Given the description of an element on the screen output the (x, y) to click on. 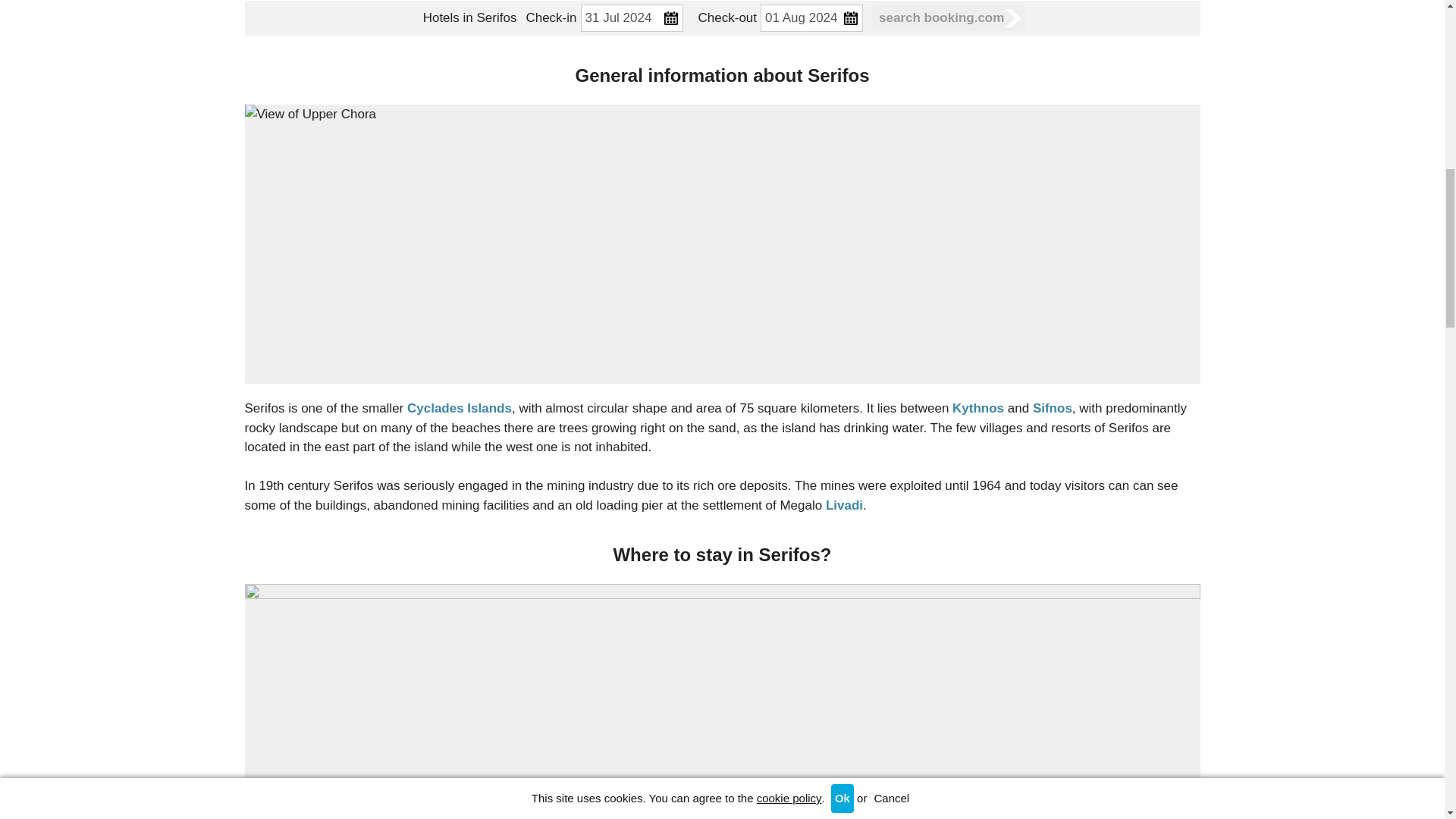
Sifnos (1051, 408)
Cyclades Islands (459, 408)
01 Aug 2024 (811, 17)
Livadi (844, 504)
31 Jul 2024 (631, 17)
search booking.com (948, 17)
Kythnos (978, 408)
